Given the description of an element on the screen output the (x, y) to click on. 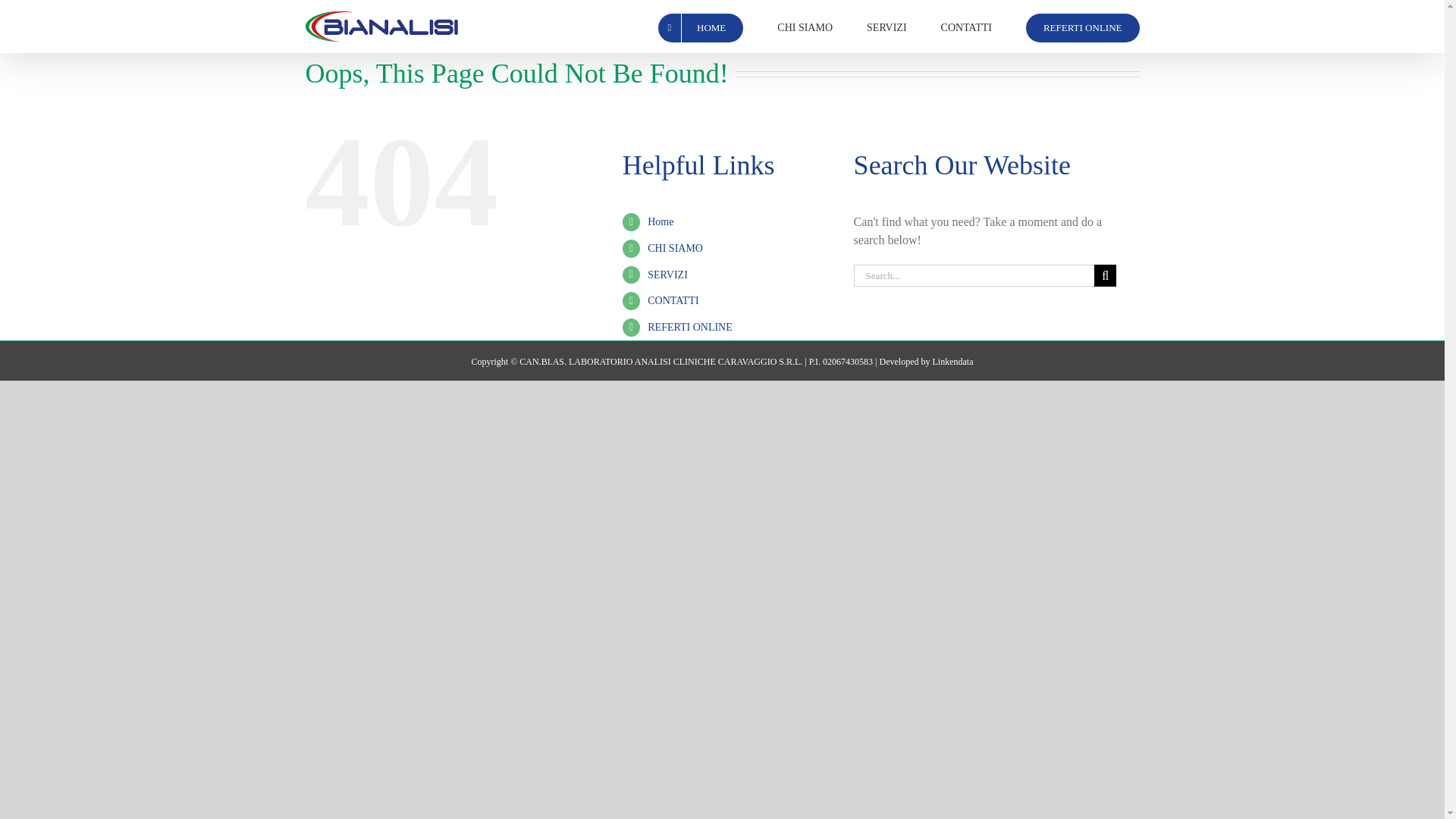
CONTATTI (965, 26)
Home (659, 221)
SERVIZI (667, 274)
CONTATTI (672, 300)
REFERTI ONLINE (1083, 26)
HOME (700, 26)
CHI SIAMO (804, 26)
Linkendata (951, 361)
REFERTI ONLINE (689, 326)
